Given the description of an element on the screen output the (x, y) to click on. 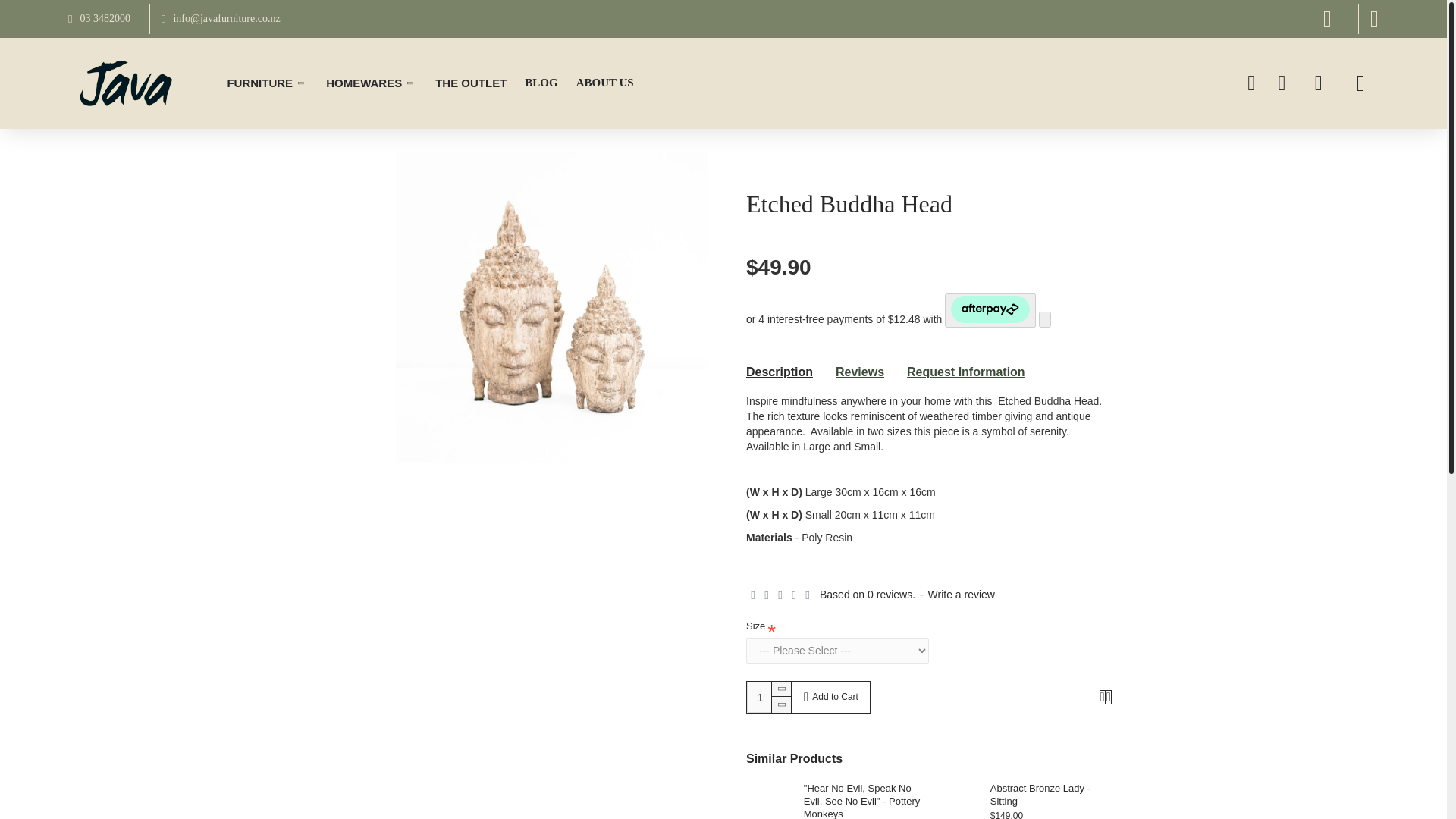
Etched Buddha Head (551, 307)
HOMEWARES (371, 82)
BLOG (540, 82)
FURNITURE (266, 82)
1 (768, 696)
ABOUT US (605, 82)
THE OUTLET (470, 82)
03 3482000 (94, 19)
Java Furniture (125, 83)
